Given the description of an element on the screen output the (x, y) to click on. 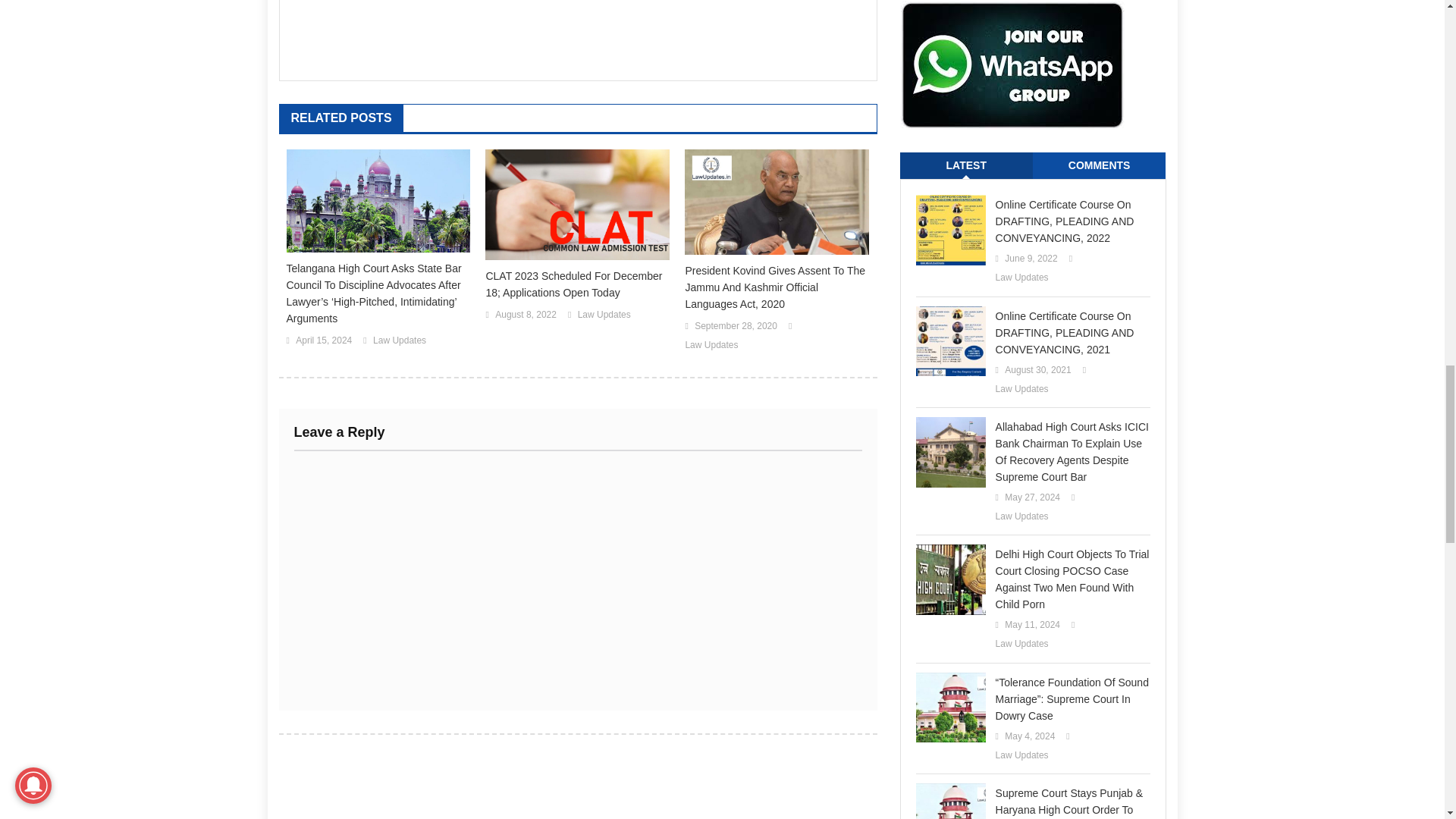
Law Updates (399, 340)
April 15, 2024 (323, 340)
September 28, 2020 (735, 326)
CLAT 2023 Scheduled For December 18; Applications Open Today (576, 284)
Law Updates (711, 345)
August 8, 2022 (525, 315)
Law Updates (604, 315)
